Given the description of an element on the screen output the (x, y) to click on. 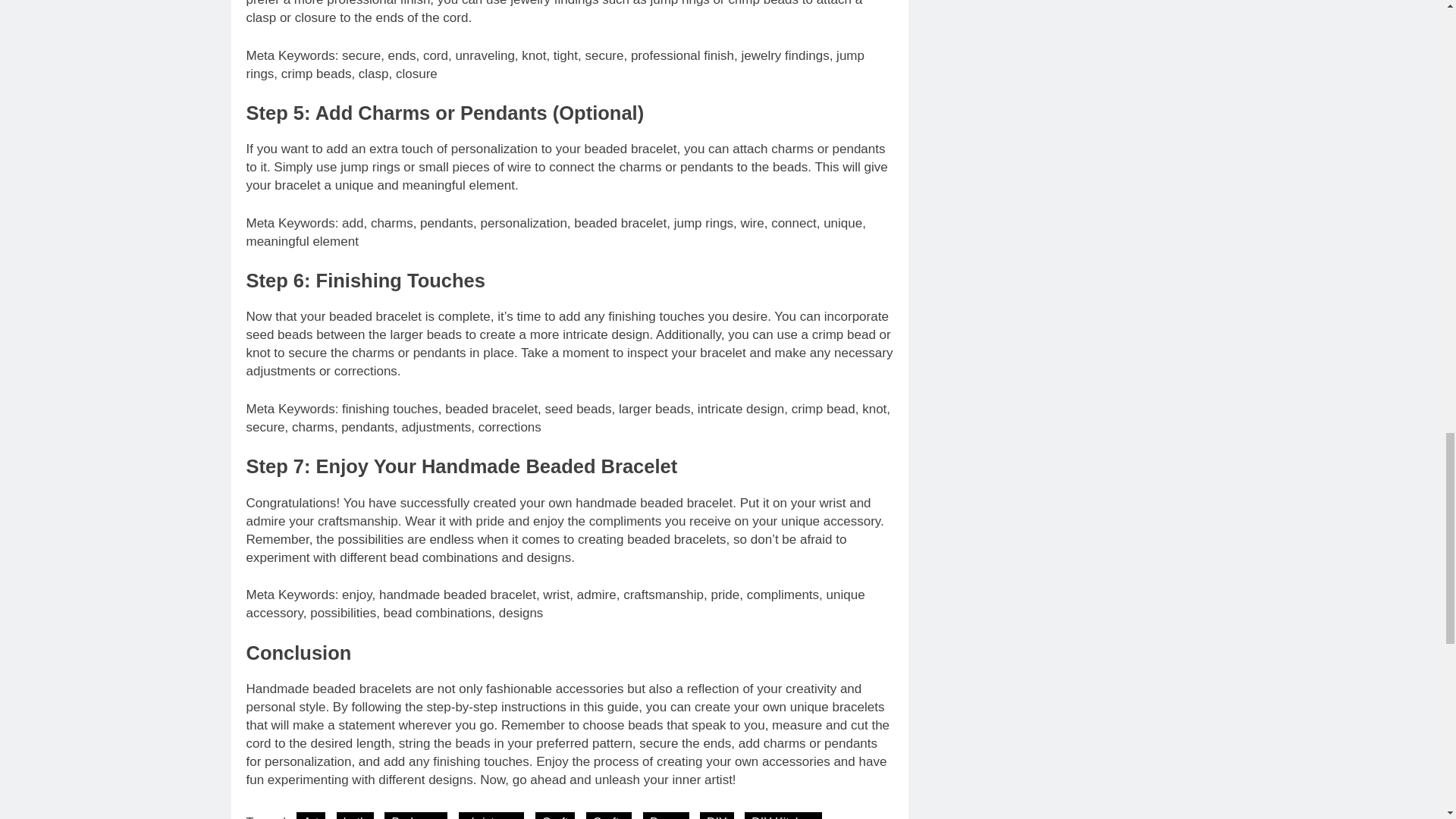
Art (310, 815)
